Given the description of an element on the screen output the (x, y) to click on. 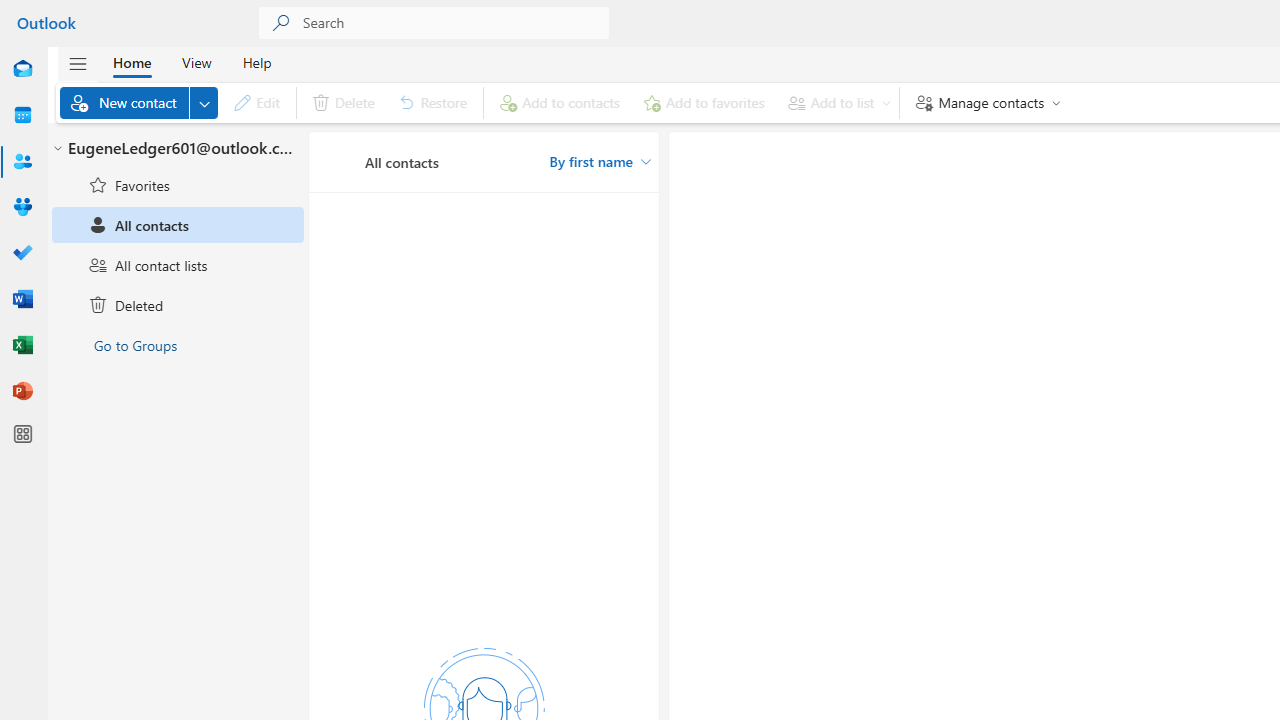
Add to list (835, 102)
Favorites (178, 185)
Sorting options. Sort by By first name selected (600, 161)
Restore (433, 102)
To Do (22, 254)
Edit (256, 102)
Search (456, 22)
Go to Groups (178, 344)
People (22, 161)
EugeneLedger601@outlook.com (178, 149)
Mail (22, 69)
View (196, 61)
Groups (22, 207)
Home (132, 61)
All contact lists (178, 264)
